Given the description of an element on the screen output the (x, y) to click on. 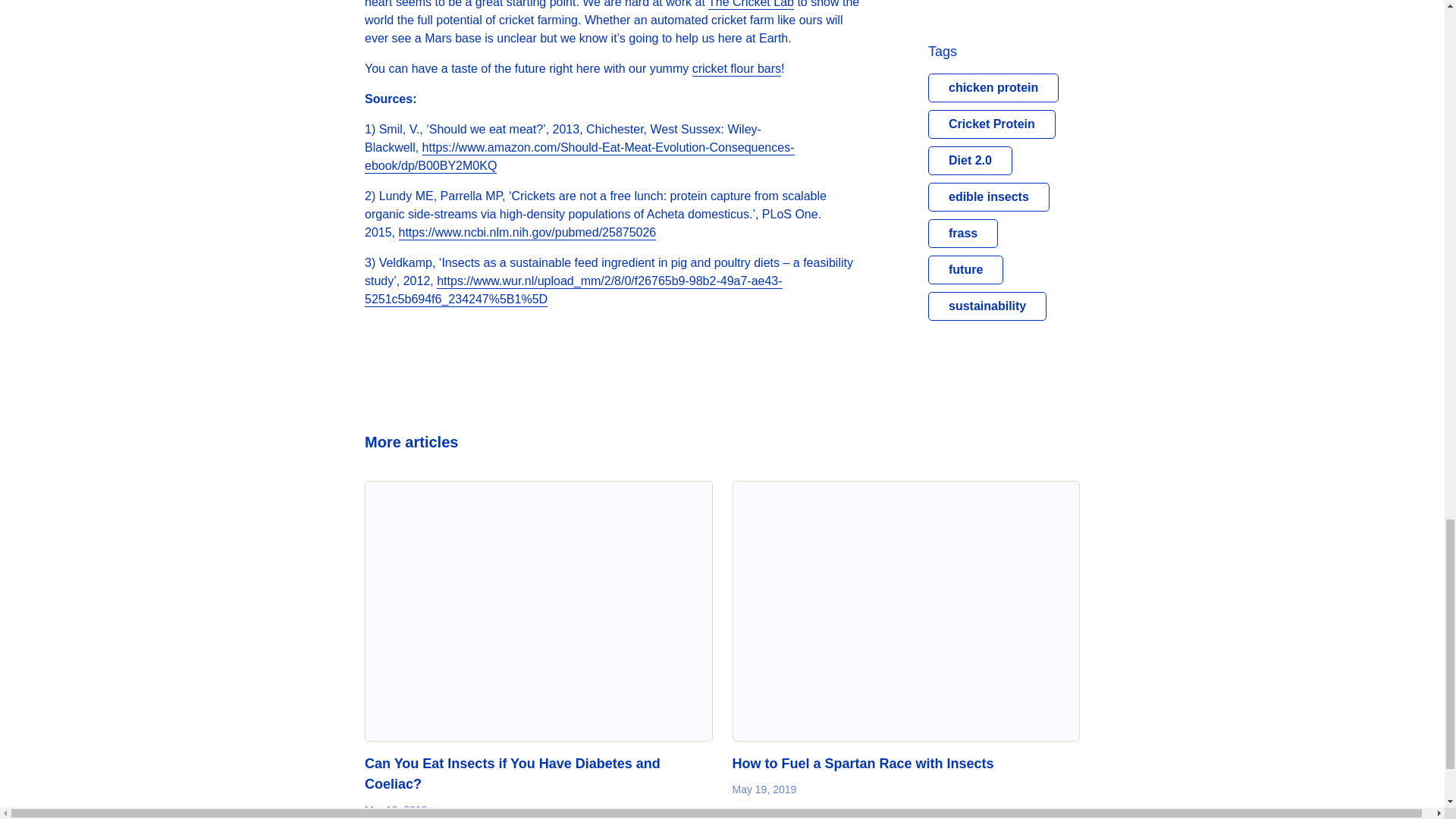
How to Fuel a Spartan Race with Insects (906, 611)
How to Fuel a Spartan Race with Insects (863, 763)
Can You Eat Insects if You Have Diabetes and Coeliac? (539, 611)
Can You Eat Insects if You Have Diabetes and Coeliac? (513, 774)
